Given the description of an element on the screen output the (x, y) to click on. 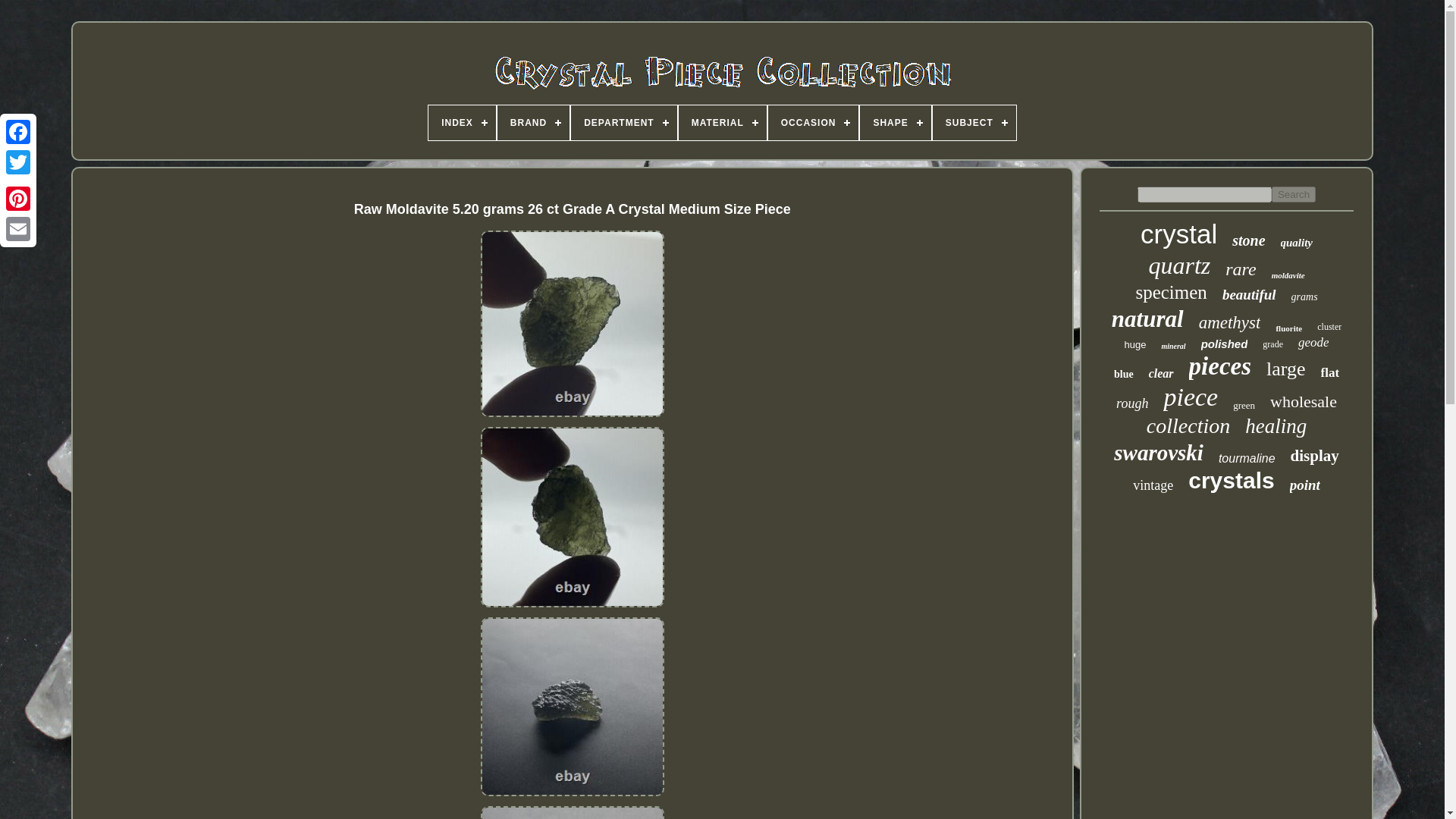
DEPARTMENT (623, 122)
BRAND (533, 122)
INDEX (462, 122)
